Given the description of an element on the screen output the (x, y) to click on. 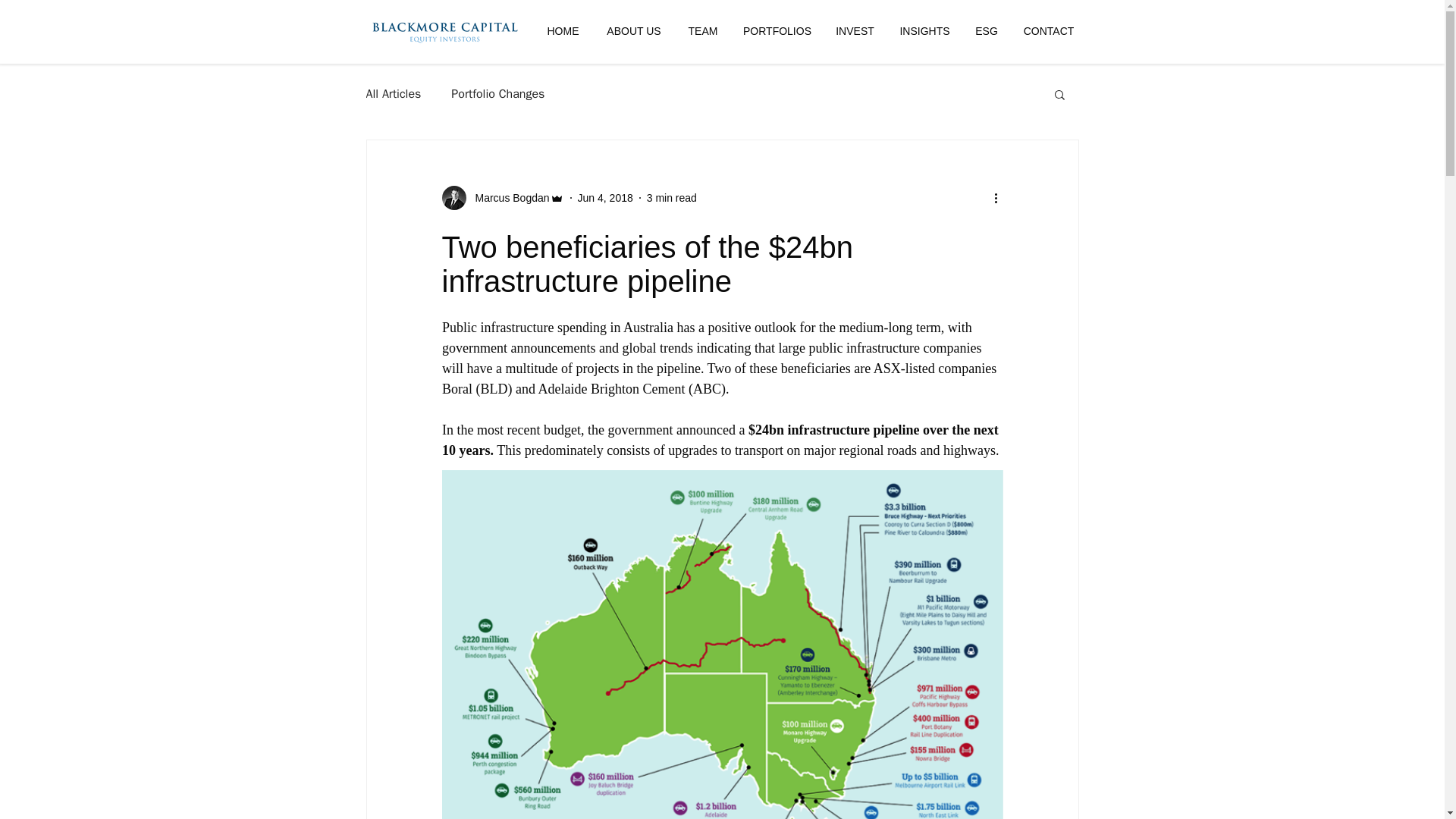
INSIGHTS (924, 30)
Marcus Bogdan (506, 197)
ABOUT US (633, 30)
PORTFOLIOS (776, 30)
INVEST (855, 30)
3 min read (671, 196)
TEAM (703, 30)
HOME (562, 30)
Jun 4, 2018 (605, 196)
All Articles (392, 94)
Portfolio Changes (497, 94)
ESG (986, 30)
CONTACT (1048, 30)
